Given the description of an element on the screen output the (x, y) to click on. 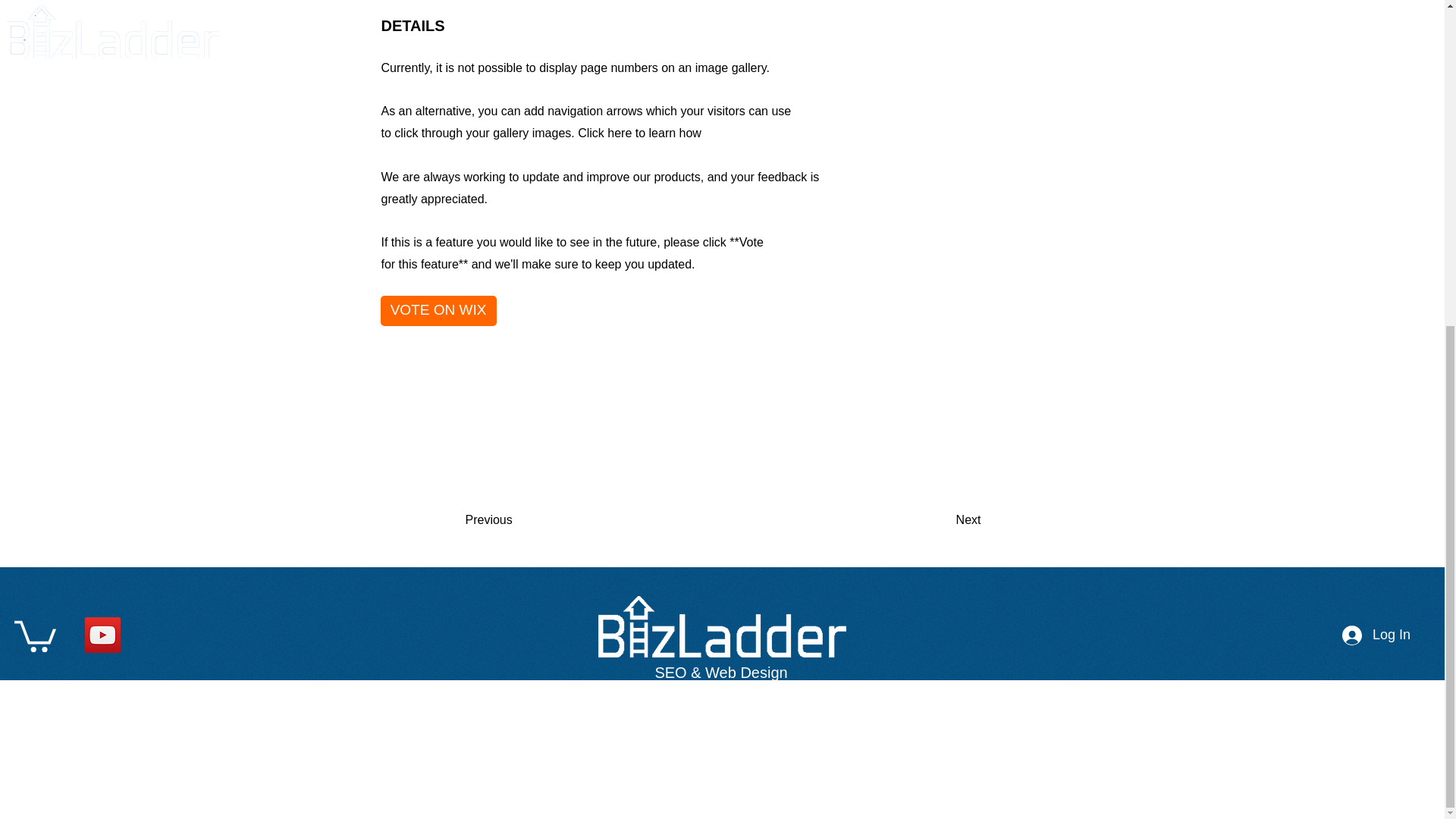
Log In (1376, 635)
Previous (514, 520)
VOTE ON WIX (438, 310)
Next (943, 520)
PPC (496, 725)
SEO (400, 725)
